Given the description of an element on the screen output the (x, y) to click on. 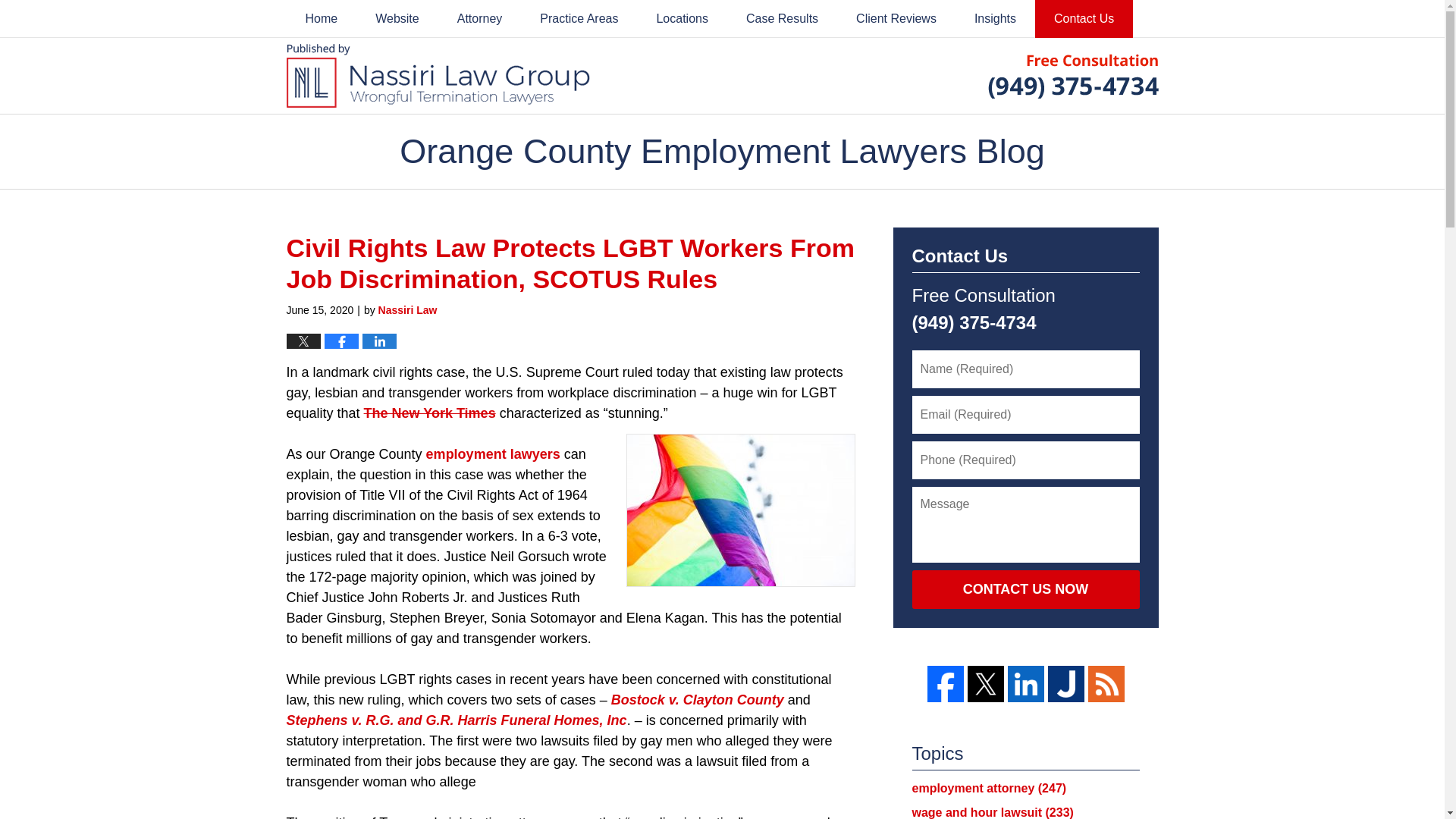
Feed (1105, 683)
Locations (681, 18)
Attorney (479, 18)
Insights (995, 18)
Orange County Employment Lawyers Blog (437, 75)
Home (321, 18)
Please enter a valid phone number. (1024, 460)
Published By Nassiri Law (1072, 75)
Justia (1066, 683)
Nassiri Law (408, 309)
Stephens v. R.G. and G.R. Harris Funeral Homes, Inc (456, 720)
Contact Us (1083, 18)
Website (397, 18)
LinkedIn (1025, 683)
Bostock v. Clayton County (697, 699)
